Given the description of an element on the screen output the (x, y) to click on. 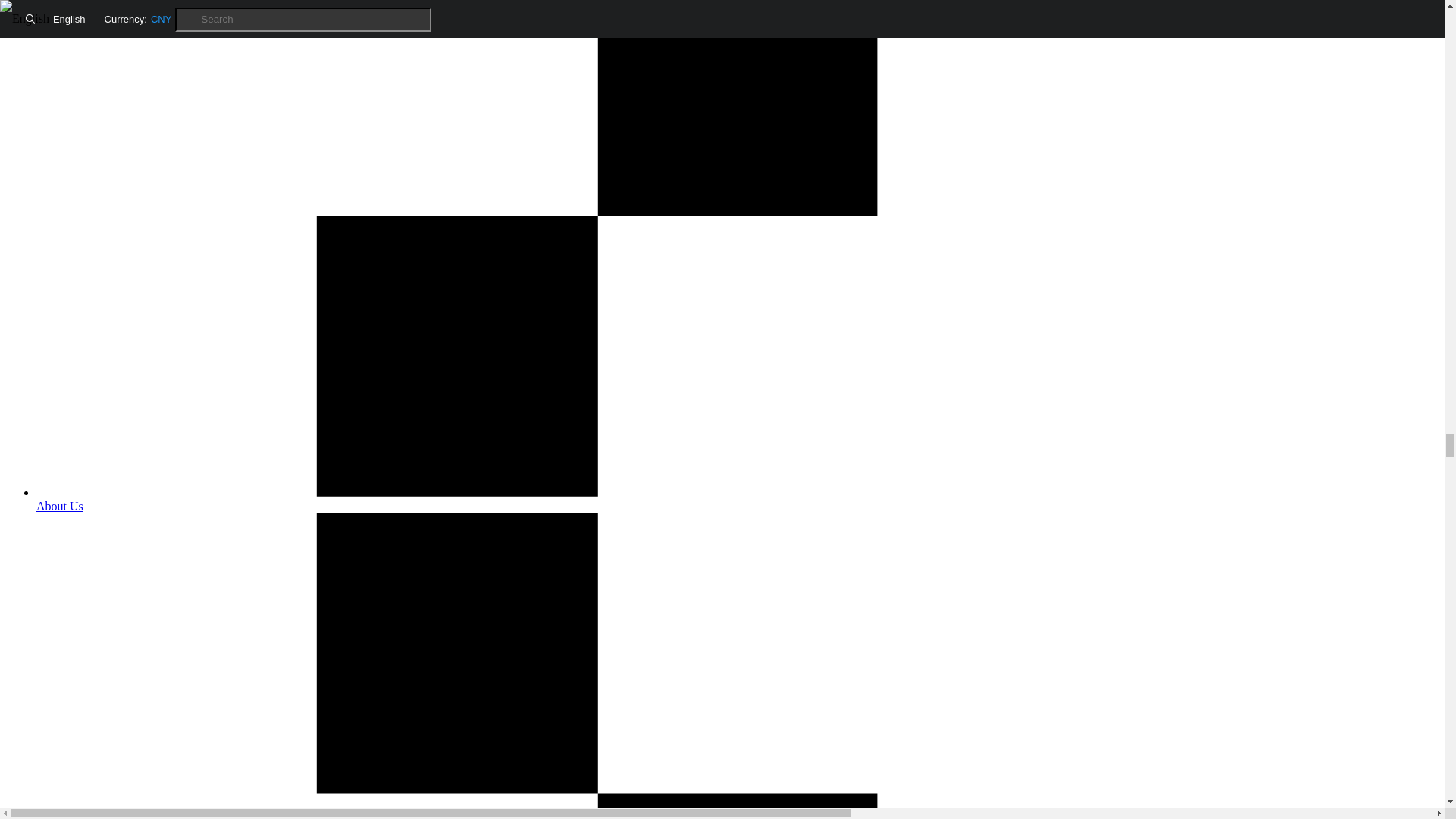
About Us (737, 499)
